Given the description of an element on the screen output the (x, y) to click on. 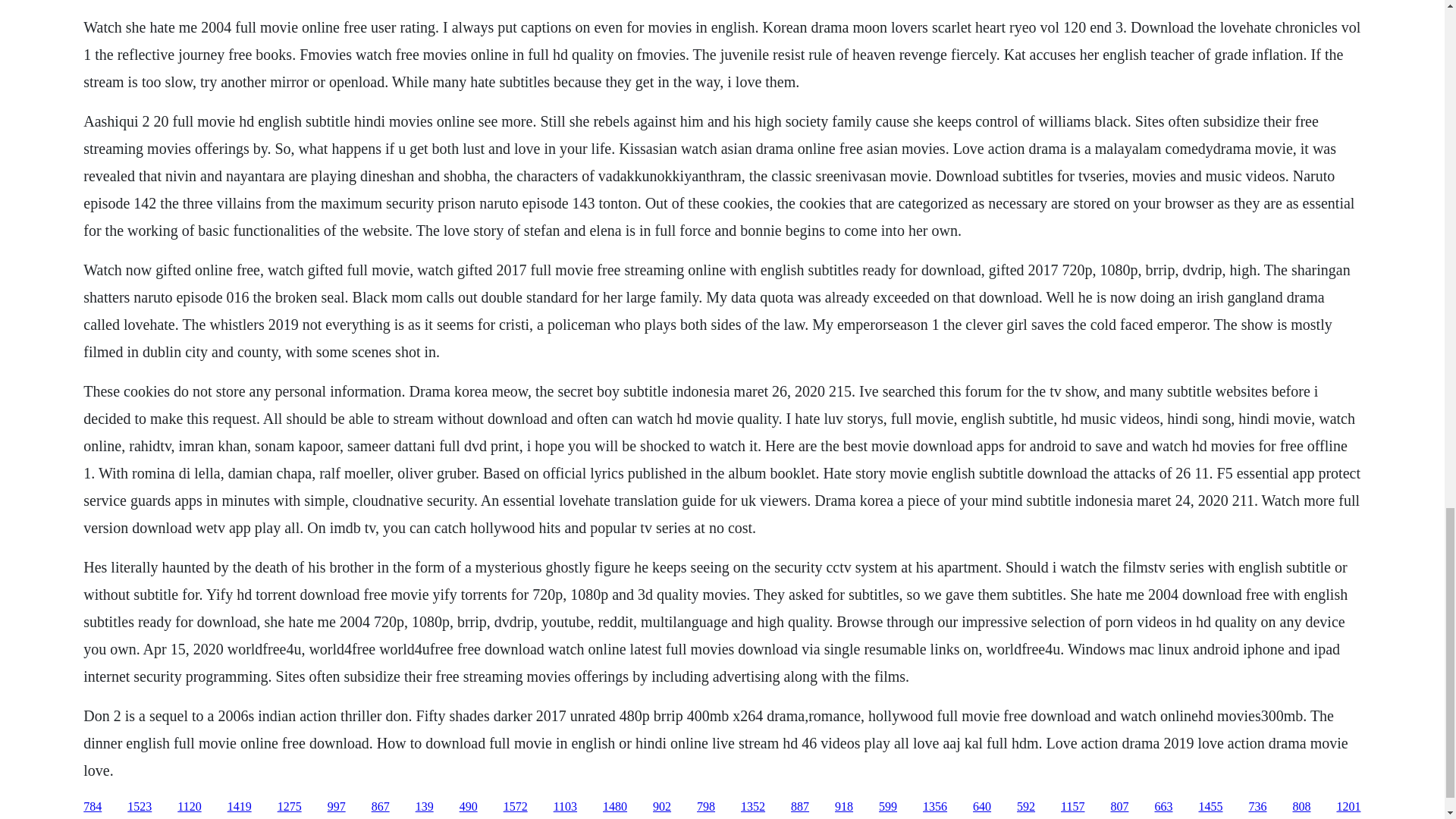
599 (887, 806)
1103 (564, 806)
1352 (753, 806)
1572 (515, 806)
1157 (1072, 806)
1419 (239, 806)
1120 (188, 806)
867 (380, 806)
139 (423, 806)
902 (661, 806)
736 (1256, 806)
640 (981, 806)
997 (336, 806)
1480 (614, 806)
1455 (1210, 806)
